Given the description of an element on the screen output the (x, y) to click on. 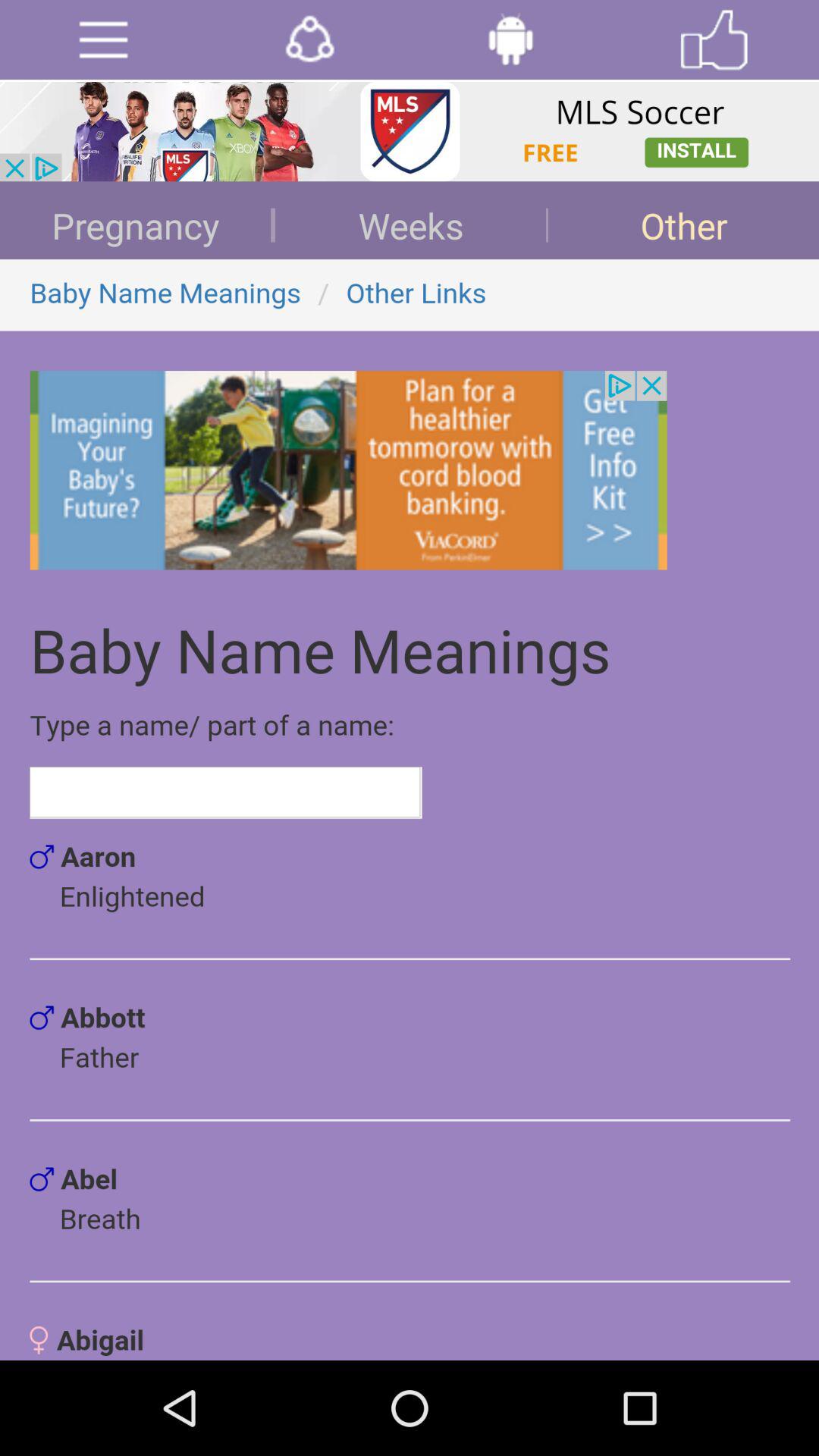
share the entry (309, 39)
